Given the description of an element on the screen output the (x, y) to click on. 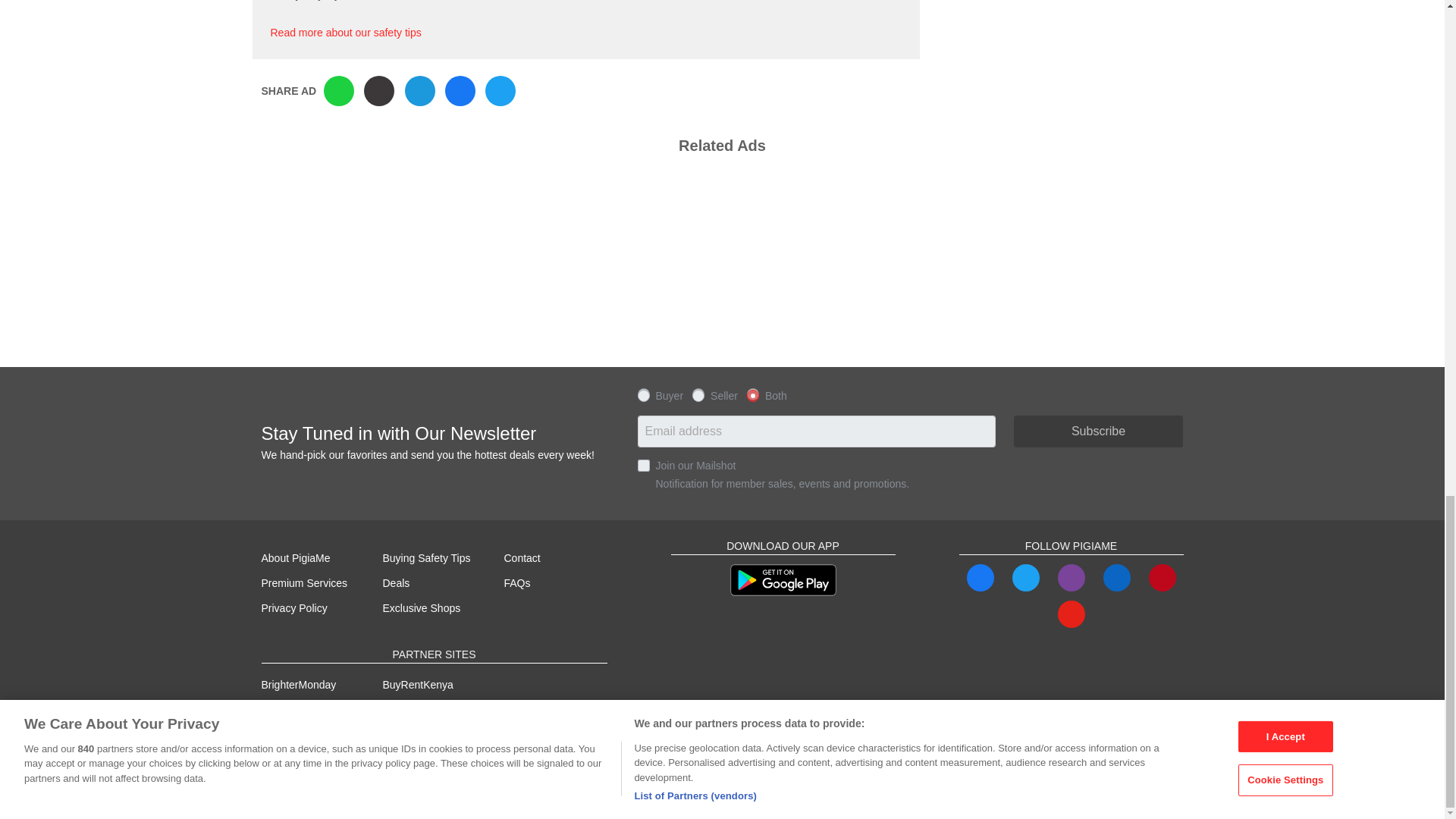
Share via Facebook (460, 91)
Copy link (379, 91)
Read more about our safety tips (344, 32)
Share via Twitter (499, 91)
Share via Email (419, 91)
Share via WhatsApp (338, 91)
